Given the description of an element on the screen output the (x, y) to click on. 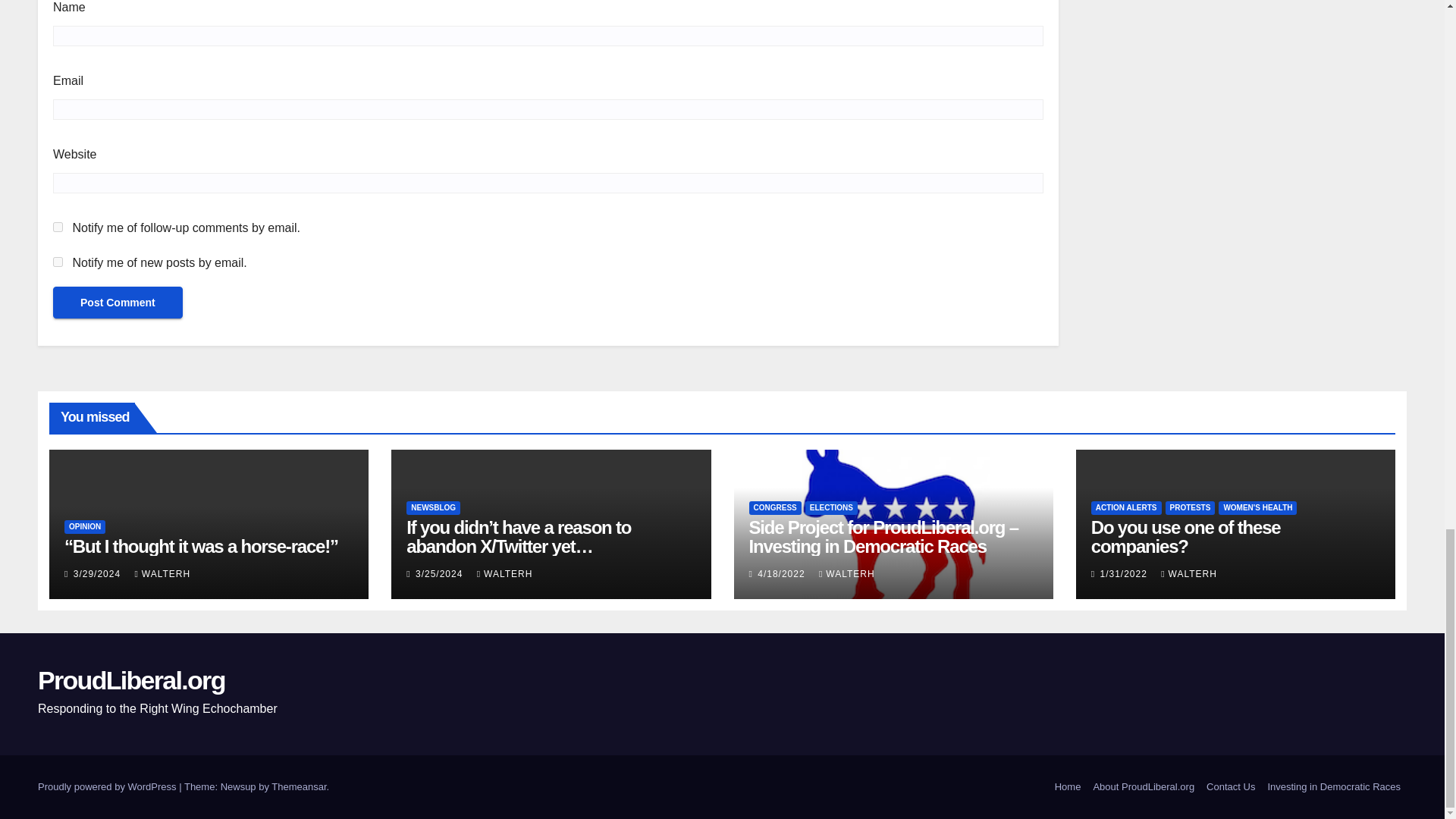
subscribe (57, 261)
Post Comment (117, 302)
subscribe (57, 226)
